Given the description of an element on the screen output the (x, y) to click on. 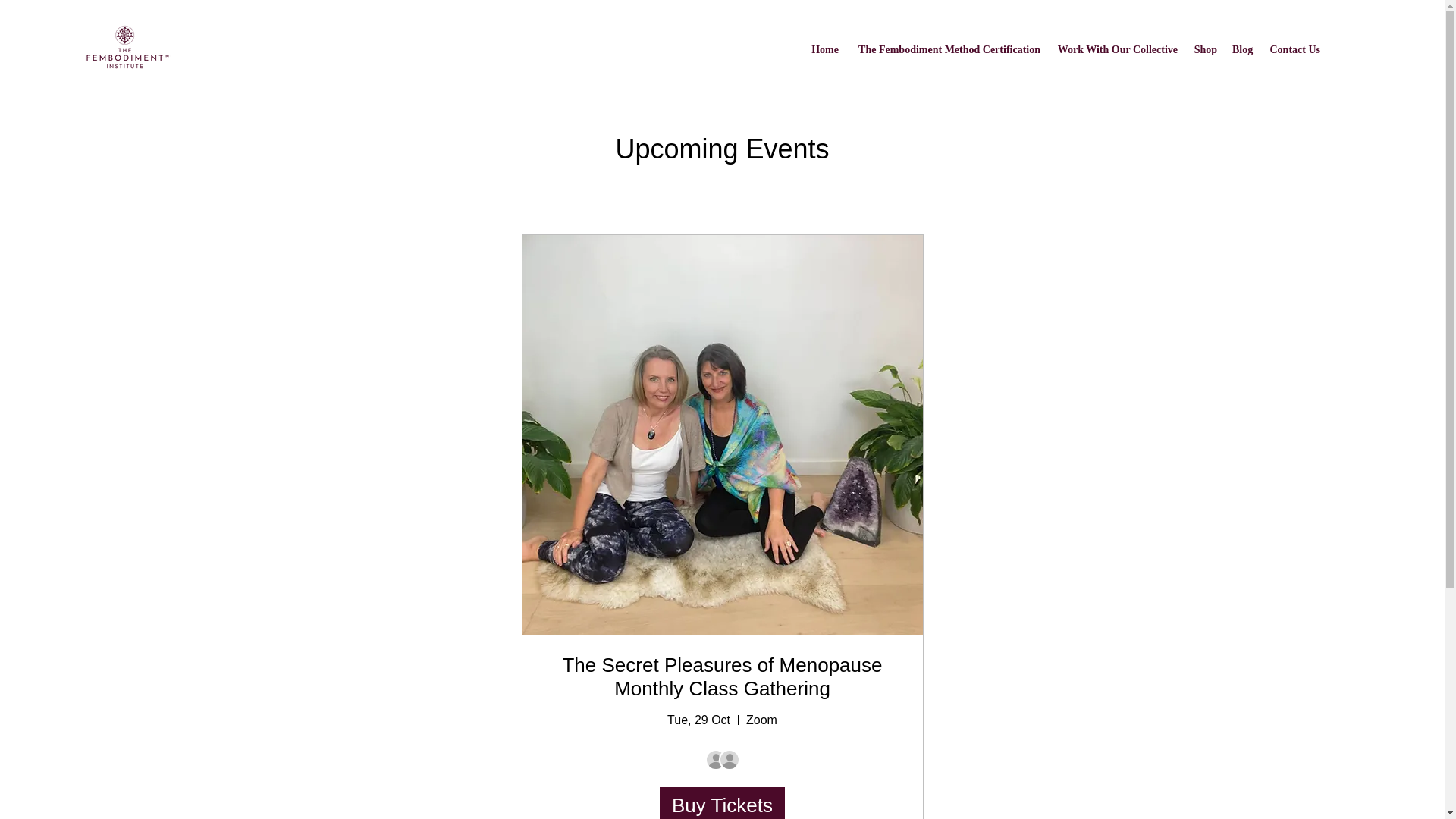
Shop (1204, 49)
Buy Tickets (721, 803)
Work With Our Collective (1116, 49)
The Fembodiment Method Certification (946, 49)
Home (823, 49)
Contact Us (1293, 49)
The Secret Pleasures of Menopause Monthly Class Gathering (722, 676)
Blog (1242, 49)
